Given the description of an element on the screen output the (x, y) to click on. 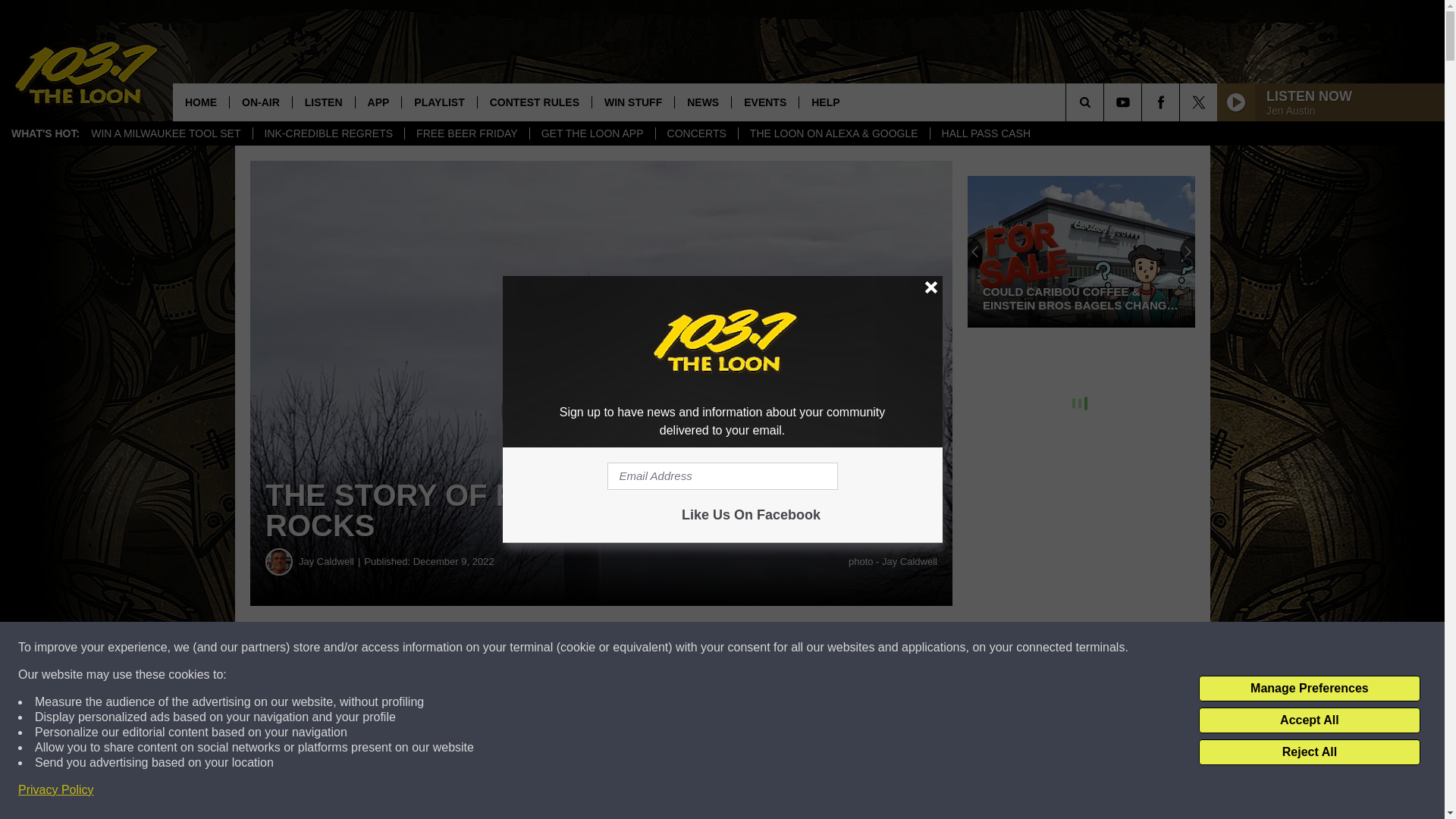
INK-CREDIBLE REGRETS (327, 133)
HOME (200, 102)
LISTEN (323, 102)
ON-AIR (260, 102)
Email Address (722, 475)
Share on Facebook (460, 647)
GET THE LOON APP (592, 133)
SEARCH (1106, 102)
Privacy Policy (55, 789)
Share on Twitter (741, 647)
Reject All (1309, 751)
FREE BEER FRIDAY (466, 133)
WIN A MILWAUKEE TOOL SET (165, 133)
CONTEST RULES (534, 102)
PLAYLIST (438, 102)
